Given the description of an element on the screen output the (x, y) to click on. 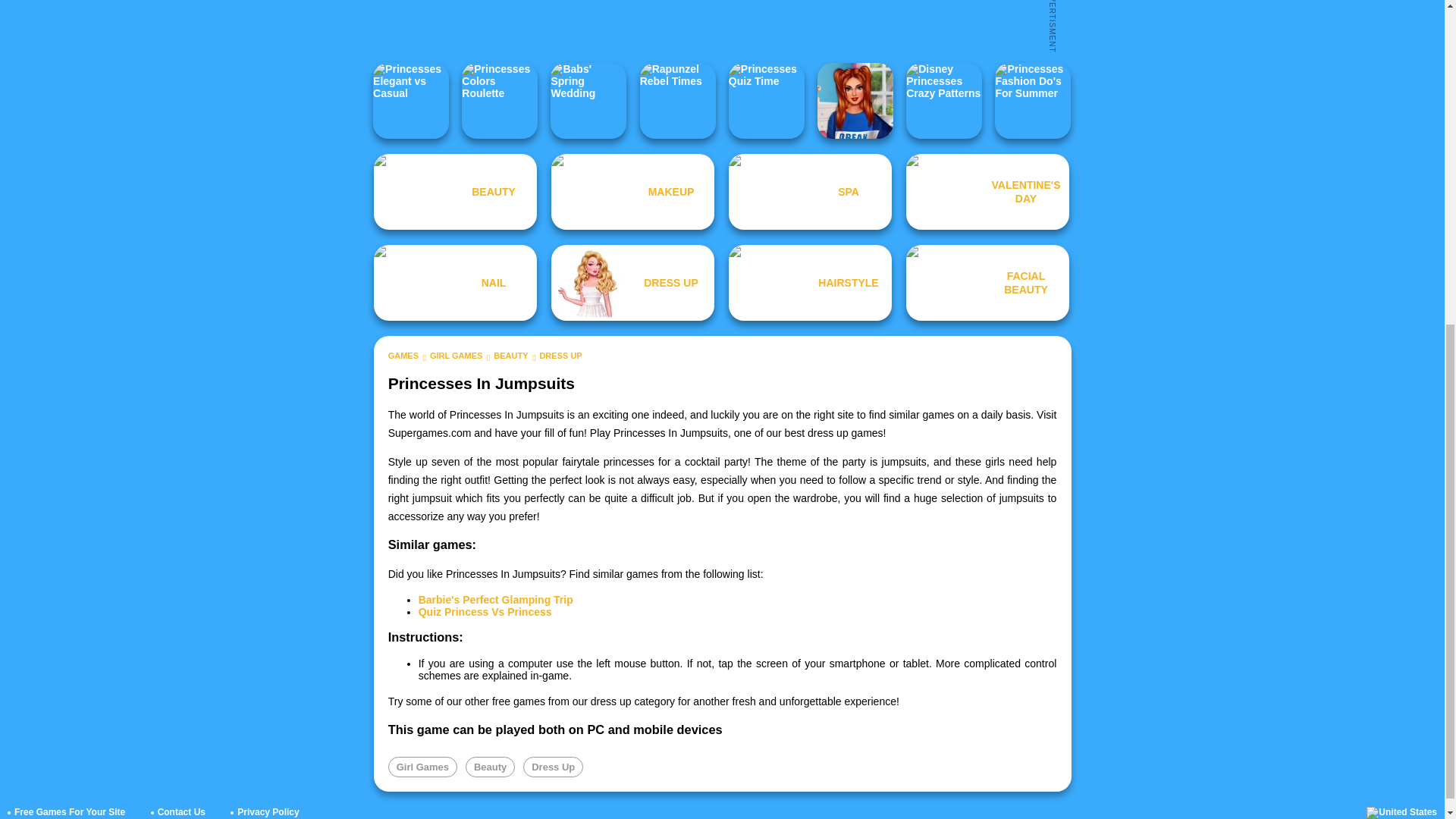
VALENTINE'S DAY (986, 191)
NAIL (455, 282)
HAIRSTYLE (810, 282)
DRESS UP (632, 282)
Babs' Spring Wedding (588, 100)
Princesses Elegant vs Casual (410, 100)
Makeup (632, 191)
Villains Join The Princesses School (854, 100)
SPA (810, 191)
Princesses Quiz Time (767, 100)
Valentine's Day (986, 191)
Princesses Fashion Do's For Summer (1032, 100)
Beauty (490, 766)
Princesses Colors Roulette (499, 100)
Contact Us (181, 811)
